Given the description of an element on the screen output the (x, y) to click on. 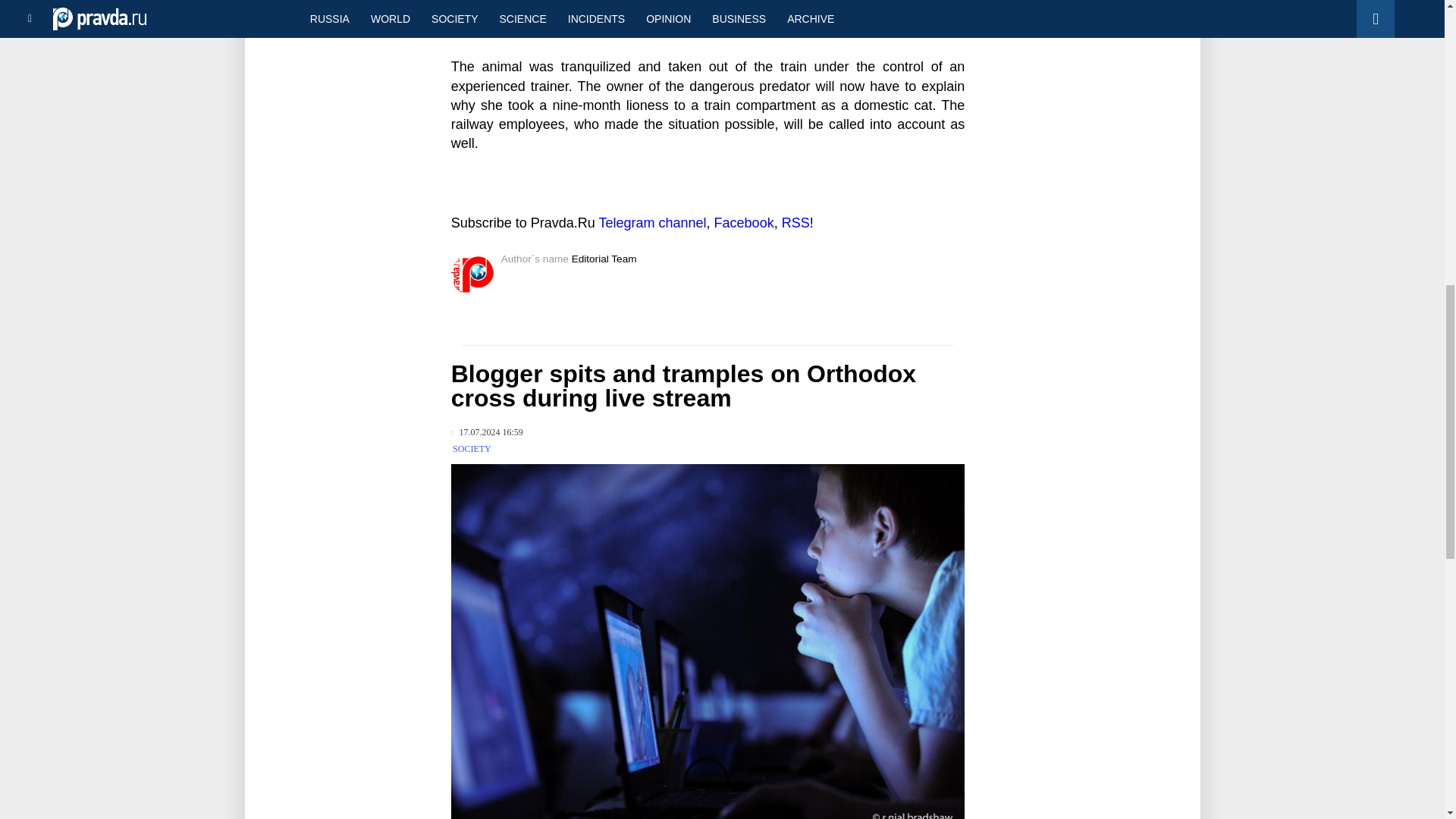
Telegram channel (652, 222)
Published (486, 432)
Editorial Team (604, 258)
SOCIETY (472, 448)
RSS (795, 222)
Facebook (744, 222)
Back to top (1418, 79)
